Given the description of an element on the screen output the (x, y) to click on. 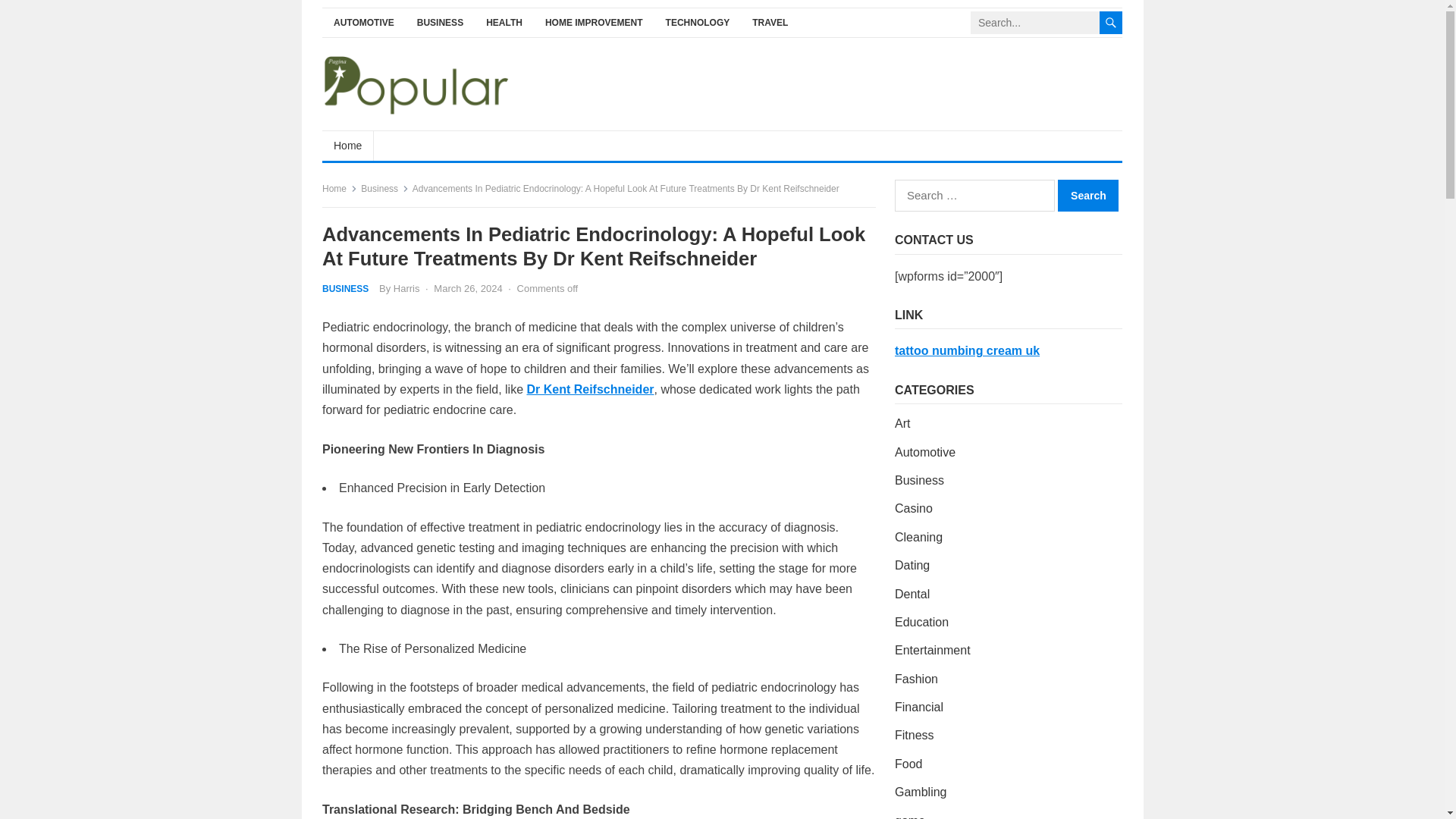
TECHNOLOGY (697, 22)
Home (347, 145)
Search (1088, 195)
HEALTH (504, 22)
Home (338, 188)
Posts by Harris (406, 288)
Dr Kent Reifschneider (589, 389)
HOME IMPROVEMENT (593, 22)
Harris (406, 288)
BUSINESS (344, 288)
Business (385, 188)
TRAVEL (770, 22)
Search (1088, 195)
AUTOMOTIVE (363, 22)
BUSINESS (440, 22)
